Given the description of an element on the screen output the (x, y) to click on. 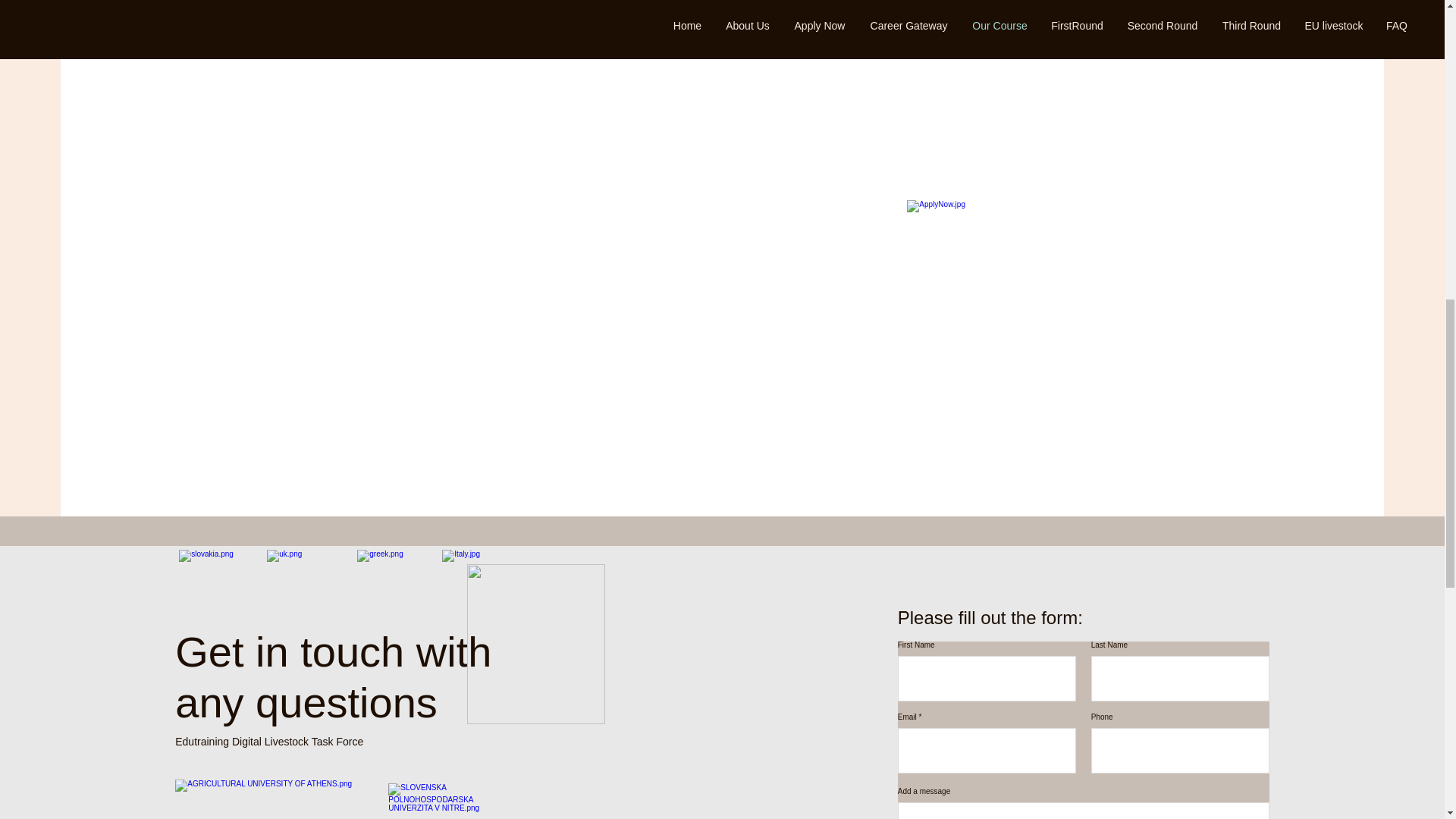
Envelope (536, 643)
